Given the description of an element on the screen output the (x, y) to click on. 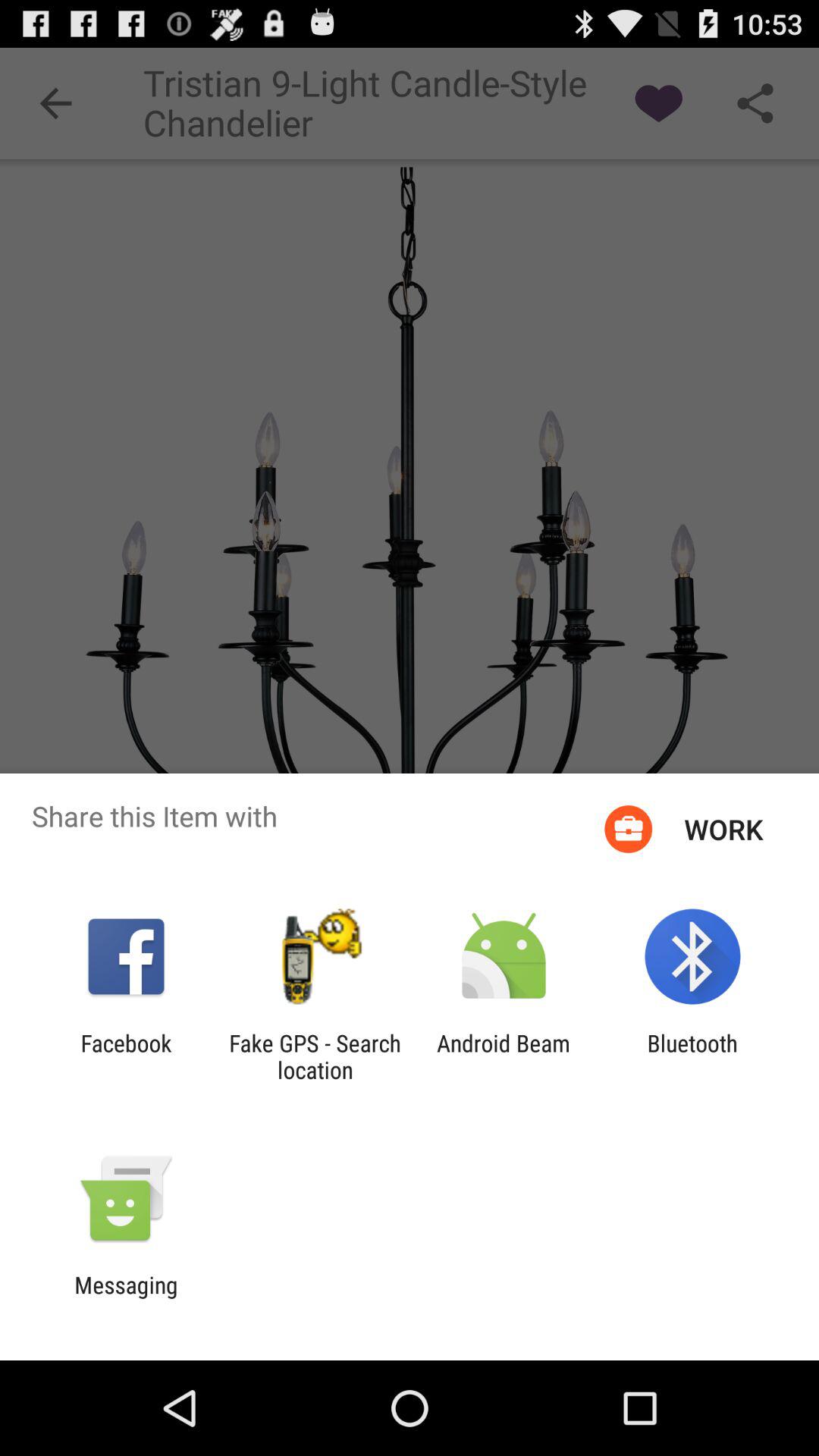
jump until the android beam icon (503, 1056)
